Given the description of an element on the screen output the (x, y) to click on. 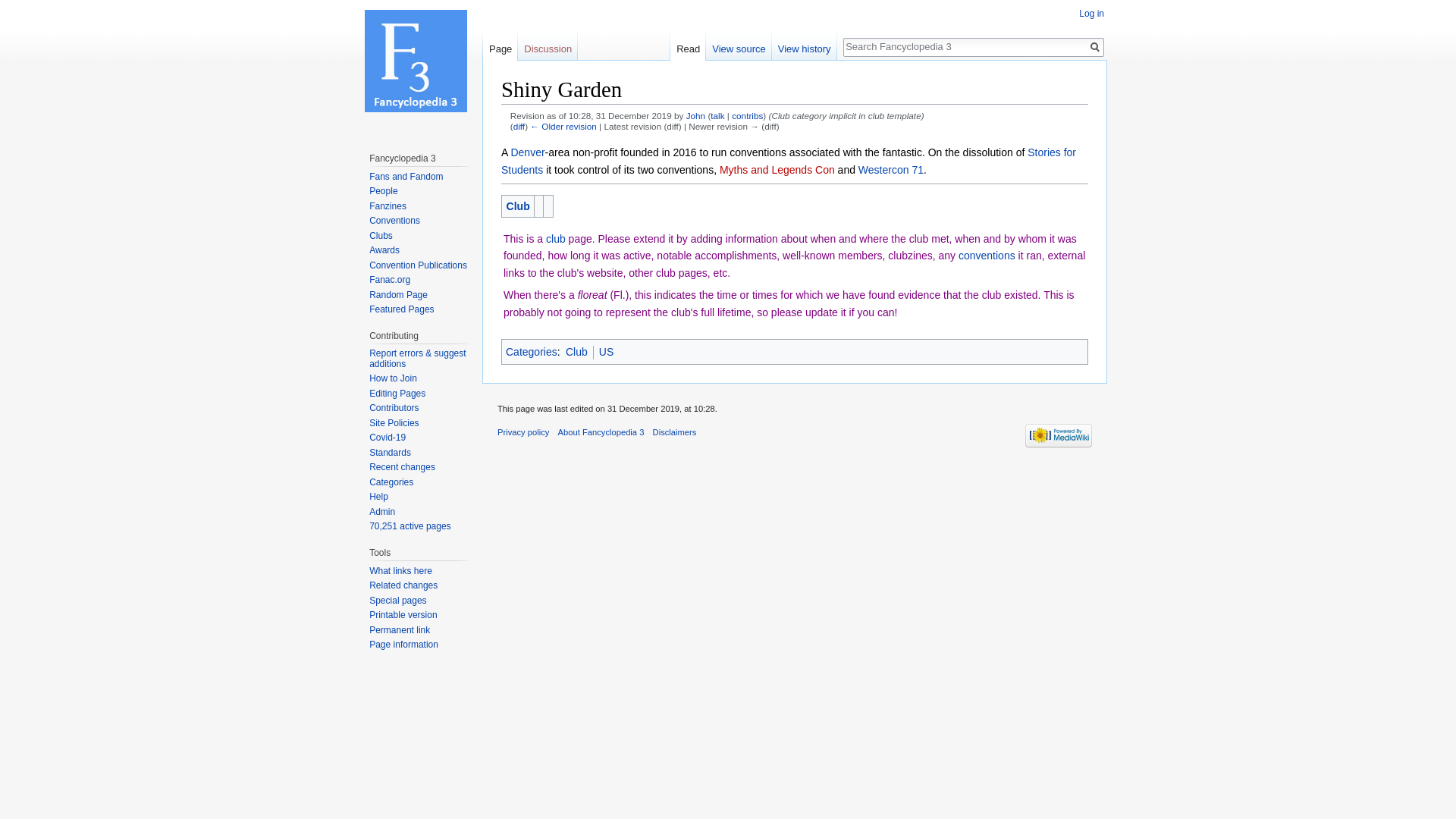
Convention Publications (418, 265)
US (605, 351)
John (694, 115)
diff (518, 126)
Club (517, 205)
Awards (383, 249)
club (556, 238)
talk (716, 115)
User:John (694, 115)
Category:Club (577, 351)
